Given the description of an element on the screen output the (x, y) to click on. 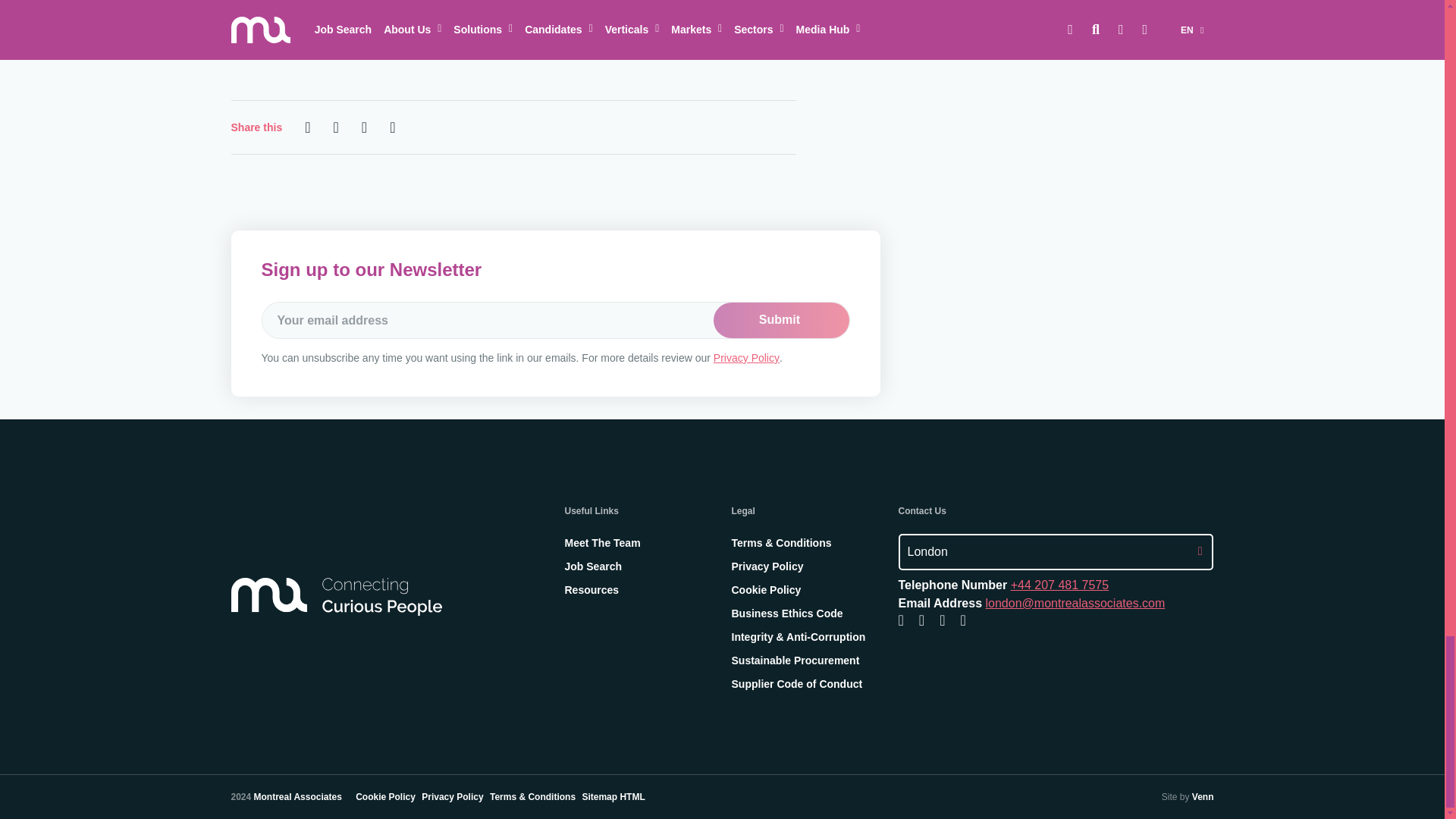
Submit  (780, 319)
